Given the description of an element on the screen output the (x, y) to click on. 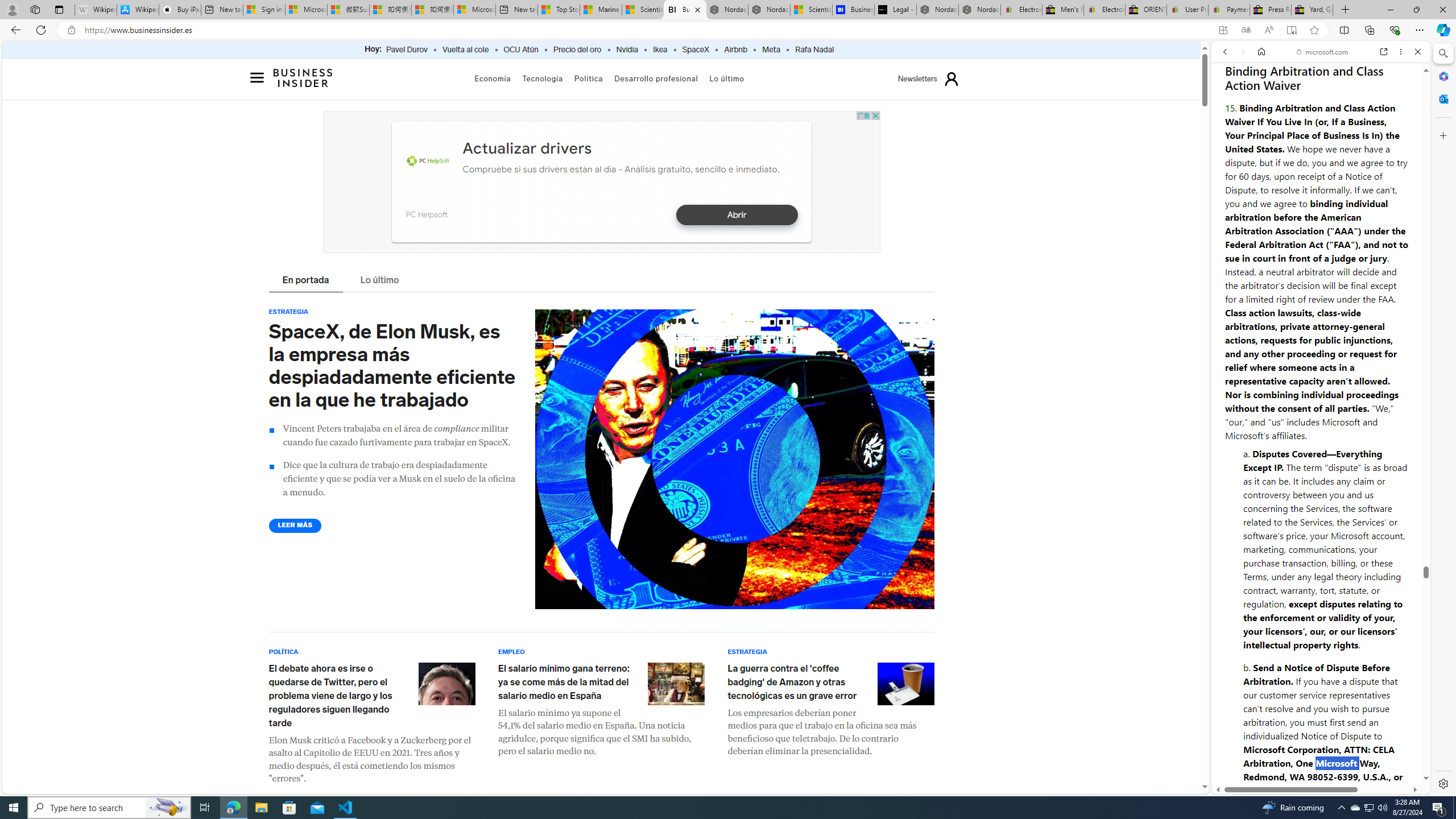
SpaceX (695, 49)
Nvidia (626, 49)
En portada (305, 281)
